Given the description of an element on the screen output the (x, y) to click on. 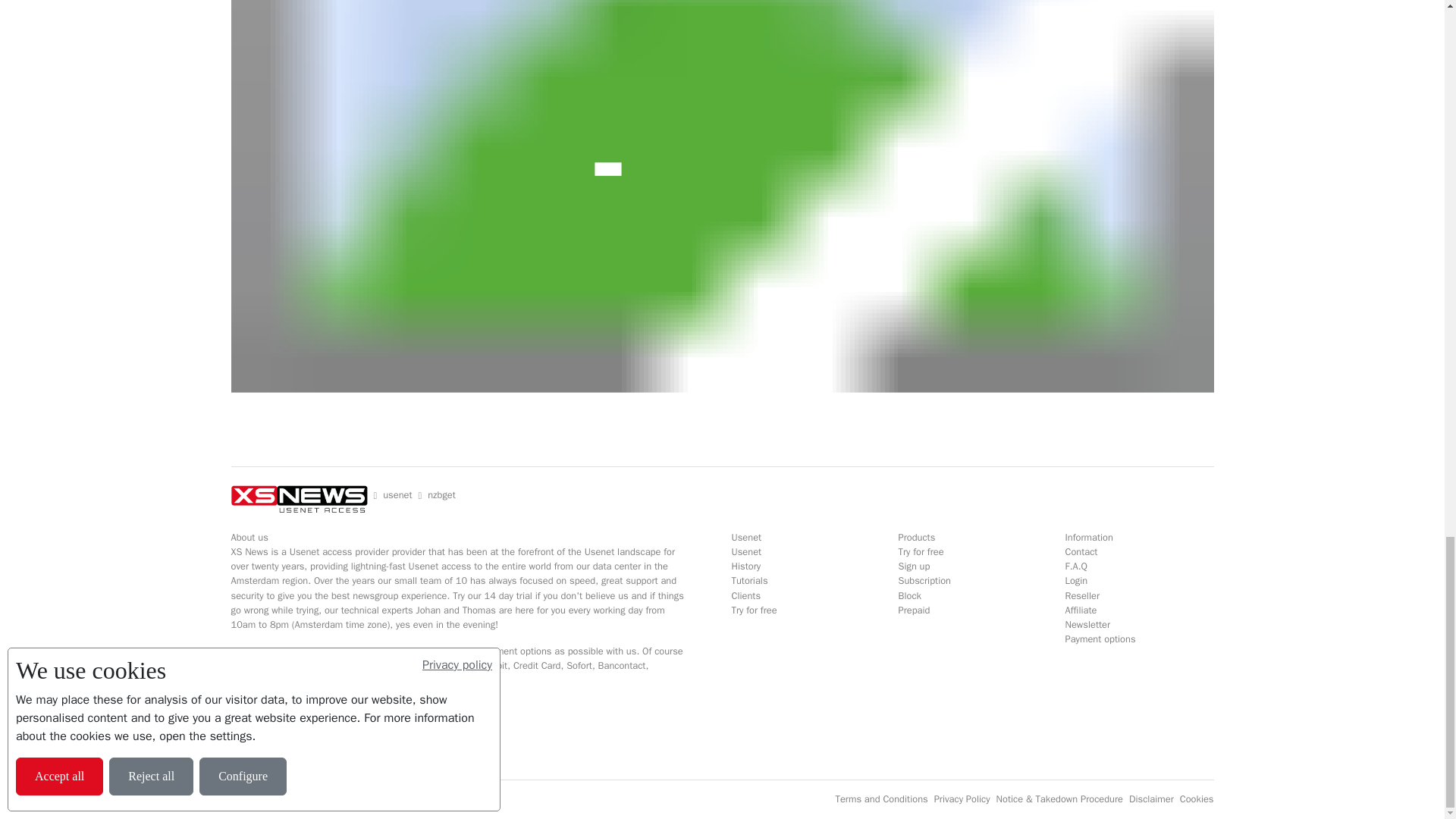
usenet (397, 495)
Usenet (745, 551)
nzbget (441, 495)
History (745, 566)
